Given the description of an element on the screen output the (x, y) to click on. 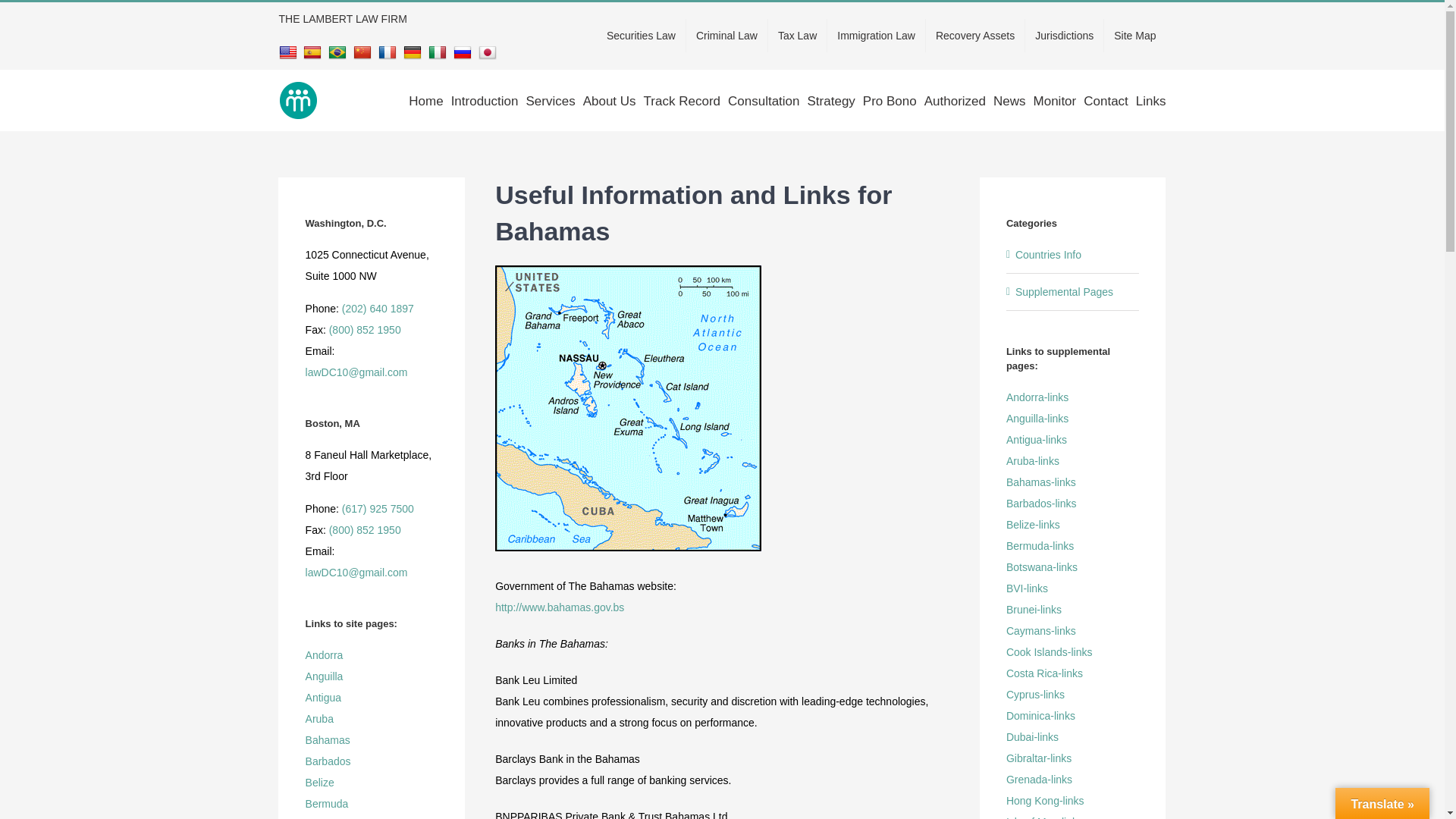
English (290, 51)
German (414, 51)
French (389, 51)
Recovery Assets (975, 35)
Immigration Law (875, 35)
Jurisdictions (1064, 35)
Site Map (1134, 35)
Useful Information and Links for Bahamas (722, 221)
Spanish (313, 51)
Introduction (484, 100)
Italian (438, 51)
Consultation (763, 100)
Japanese (489, 51)
Criminal Law (726, 35)
Tax Law (797, 35)
